Given the description of an element on the screen output the (x, y) to click on. 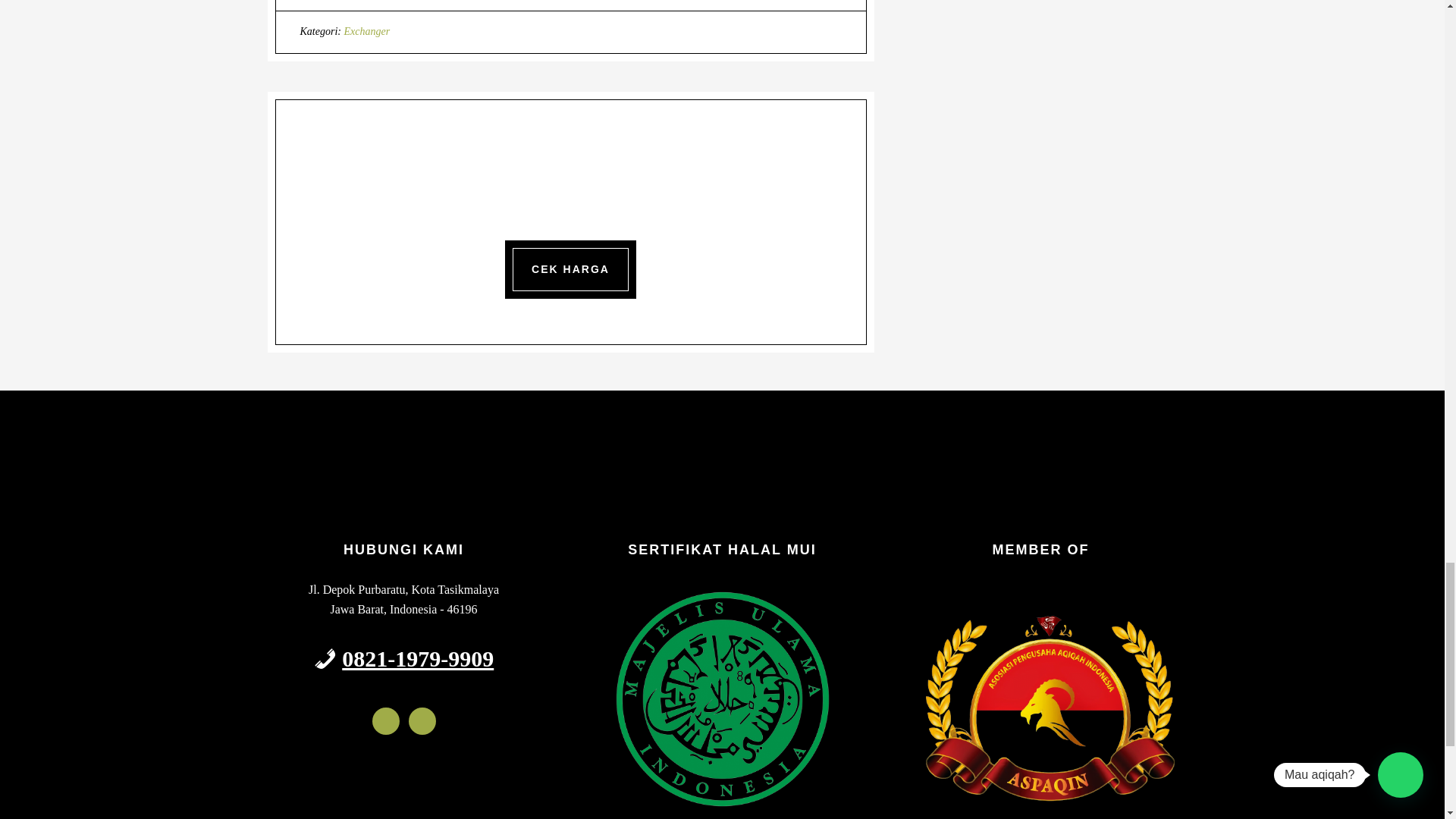
CEK HARGA (570, 269)
Exchanger (366, 30)
0821-1979-9909 (417, 658)
